Given the description of an element on the screen output the (x, y) to click on. 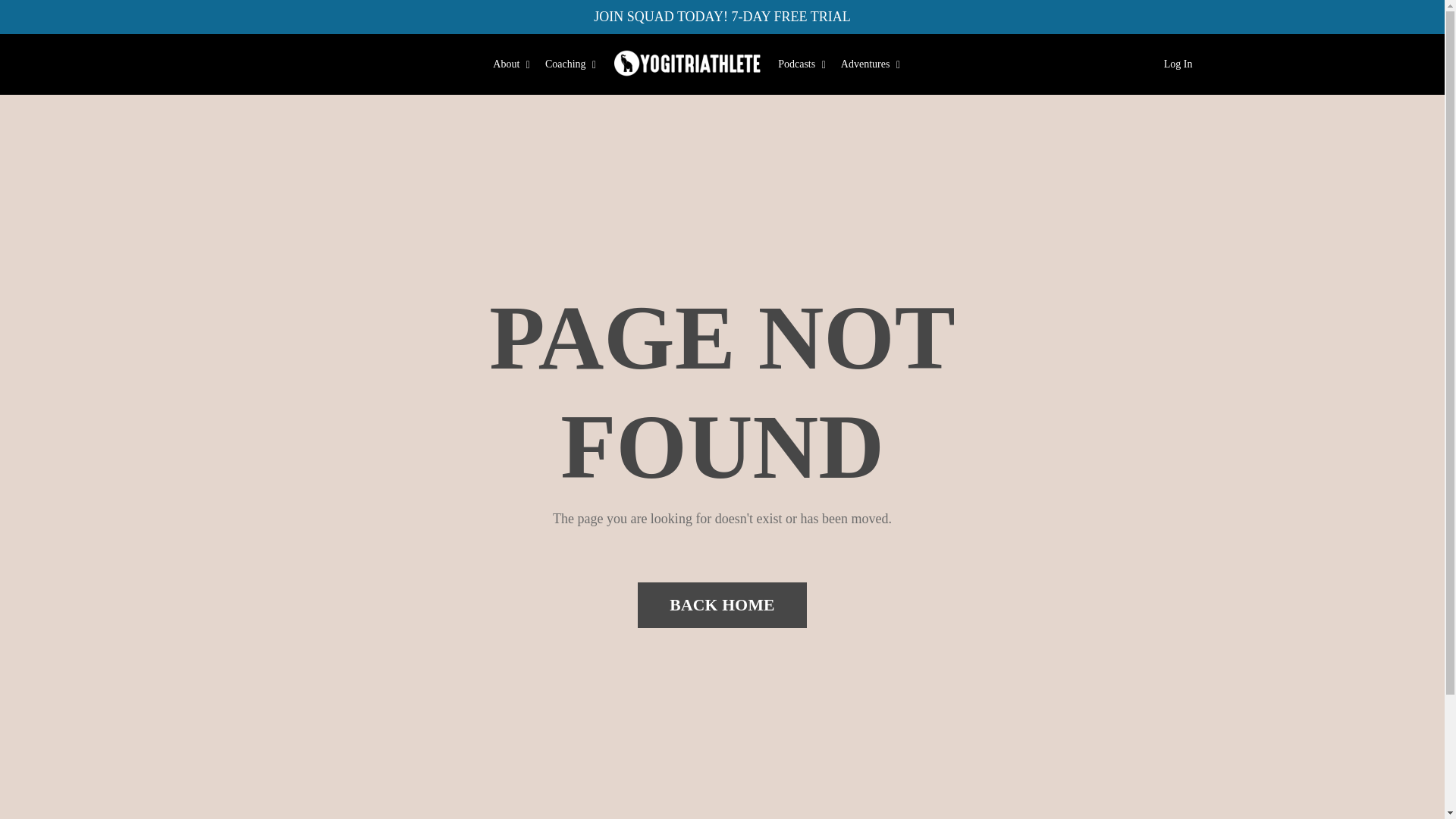
Adventures (870, 64)
Podcasts (801, 64)
Coaching (569, 64)
BACK HOME (721, 605)
About (511, 64)
Log In (1177, 62)
